Given the description of an element on the screen output the (x, y) to click on. 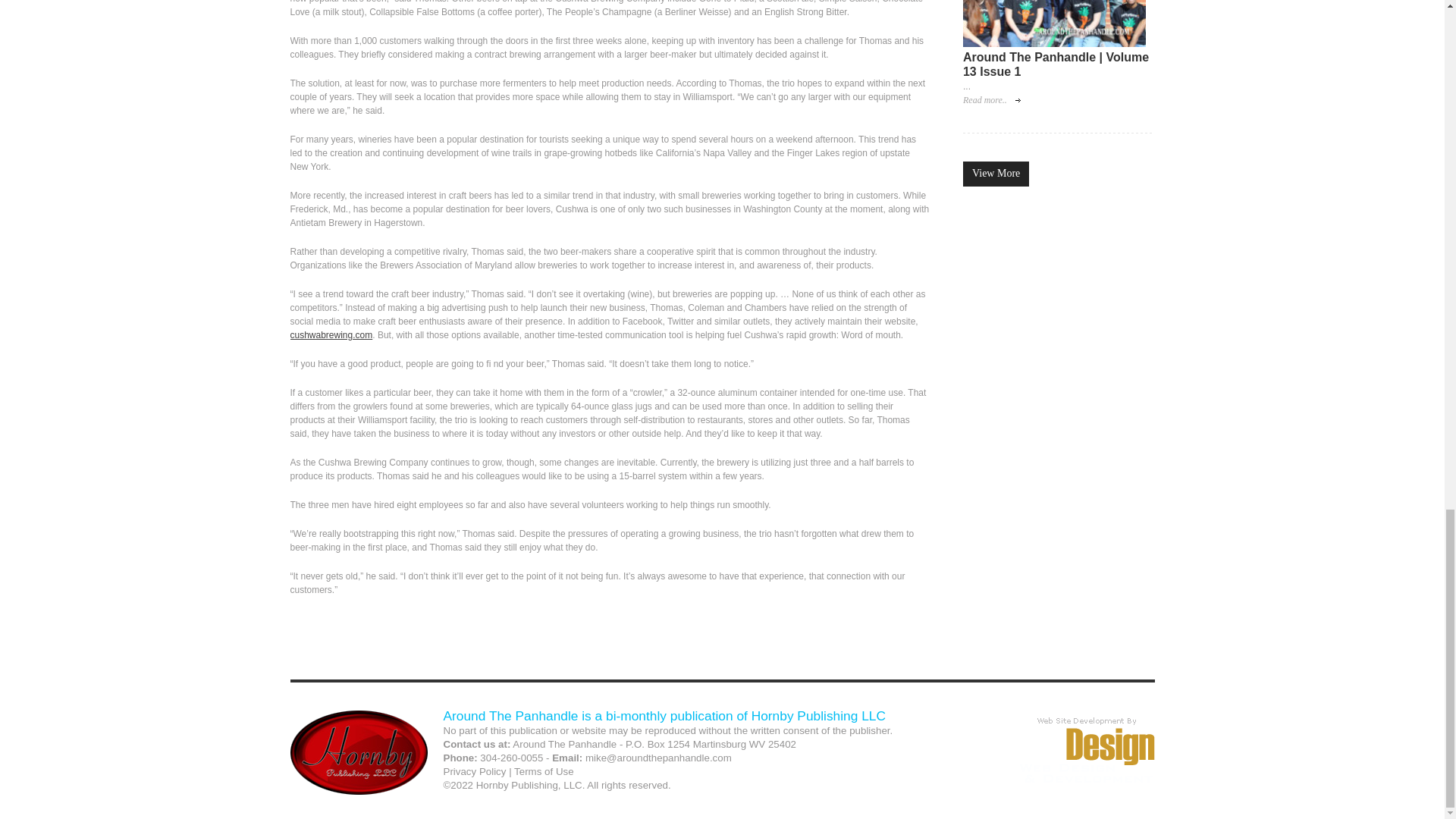
cushwabrewing.com (330, 335)
Read more.. (991, 100)
View More (995, 173)
